Given the description of an element on the screen output the (x, y) to click on. 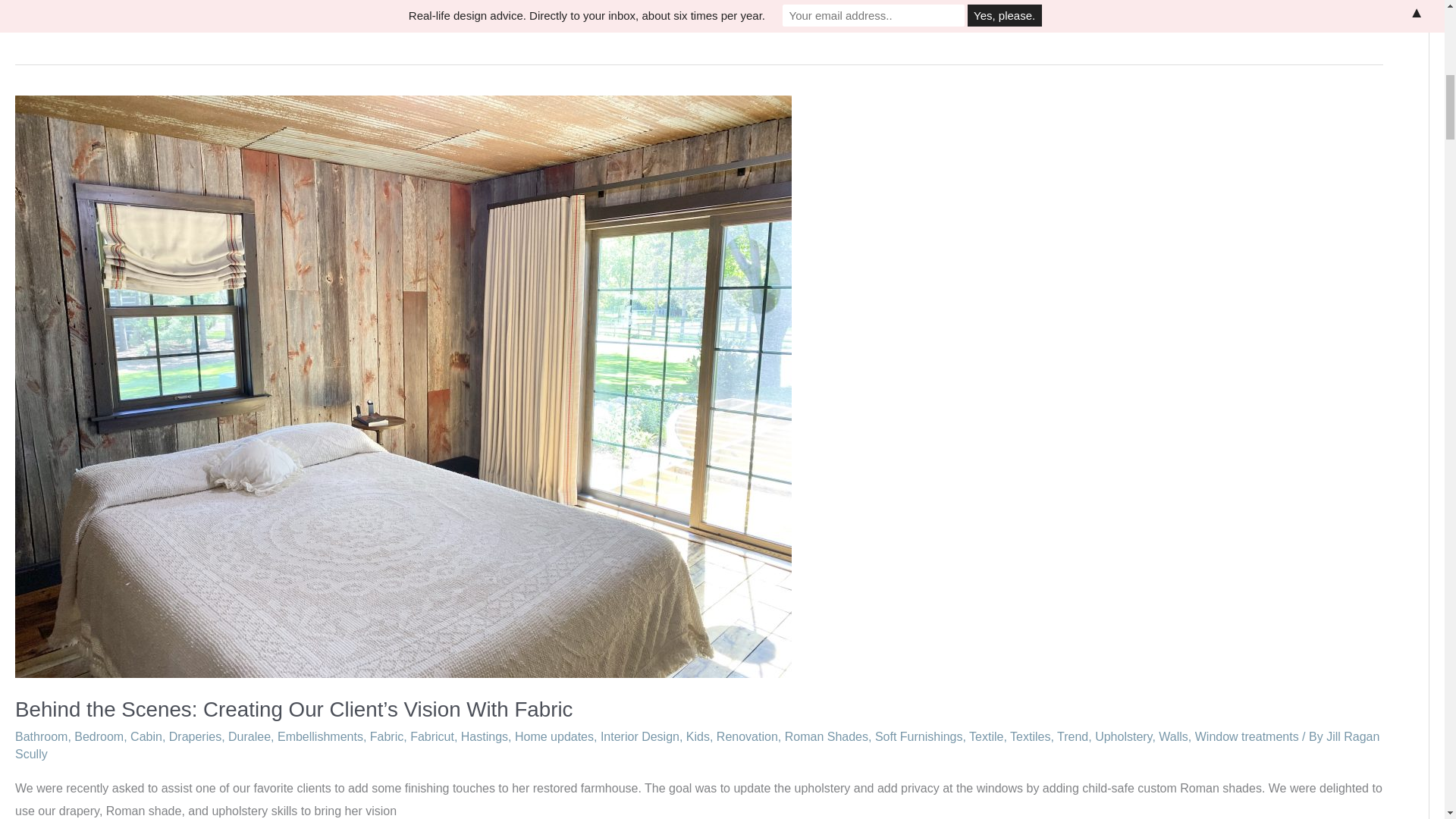
Duralee (249, 736)
Roman Shades (825, 736)
Trend (1072, 736)
Textile (986, 736)
Fabric (386, 736)
Upholstery (1122, 736)
Draperies (194, 736)
Interior Design (639, 736)
Kids (697, 736)
Hastings (484, 736)
